Given the description of an element on the screen output the (x, y) to click on. 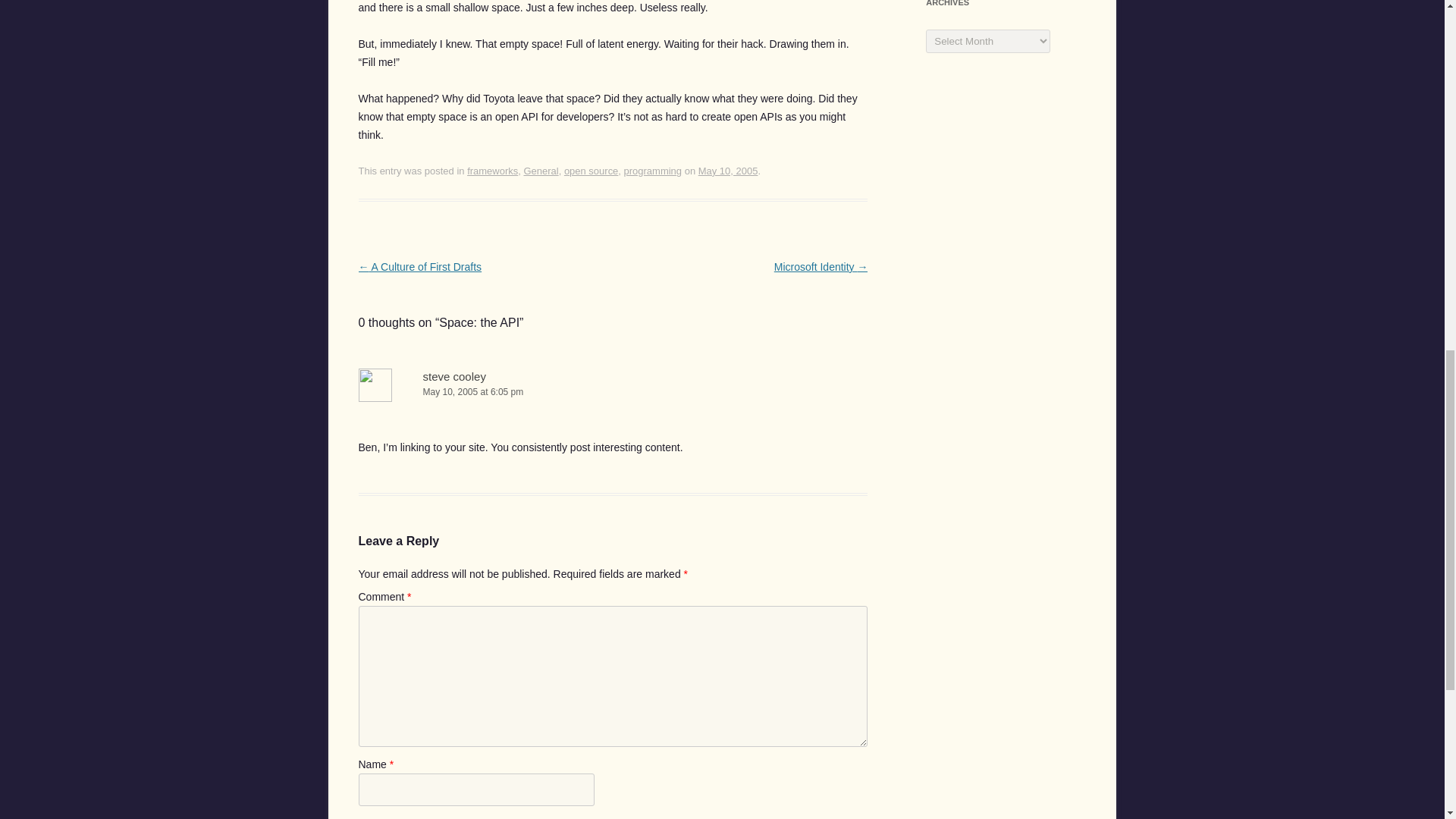
May 10, 2005 at 6:05 pm (612, 392)
open source (590, 170)
frameworks (492, 170)
steve cooley (454, 376)
General (539, 170)
programming (653, 170)
May 10, 2005 (728, 170)
3:23 pm (728, 170)
